Given the description of an element on the screen output the (x, y) to click on. 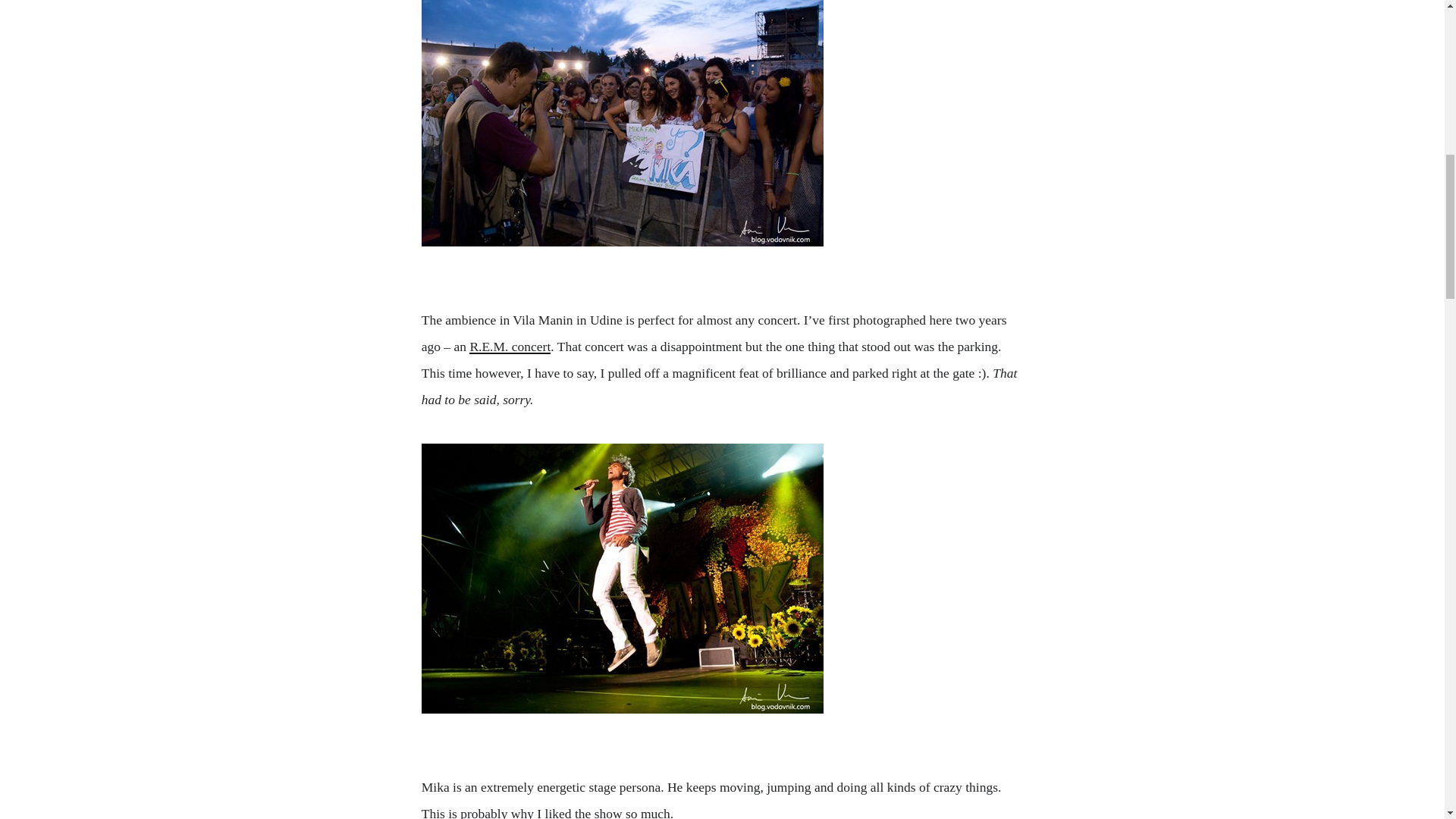
R.E.M. concert (509, 346)
